Given the description of an element on the screen output the (x, y) to click on. 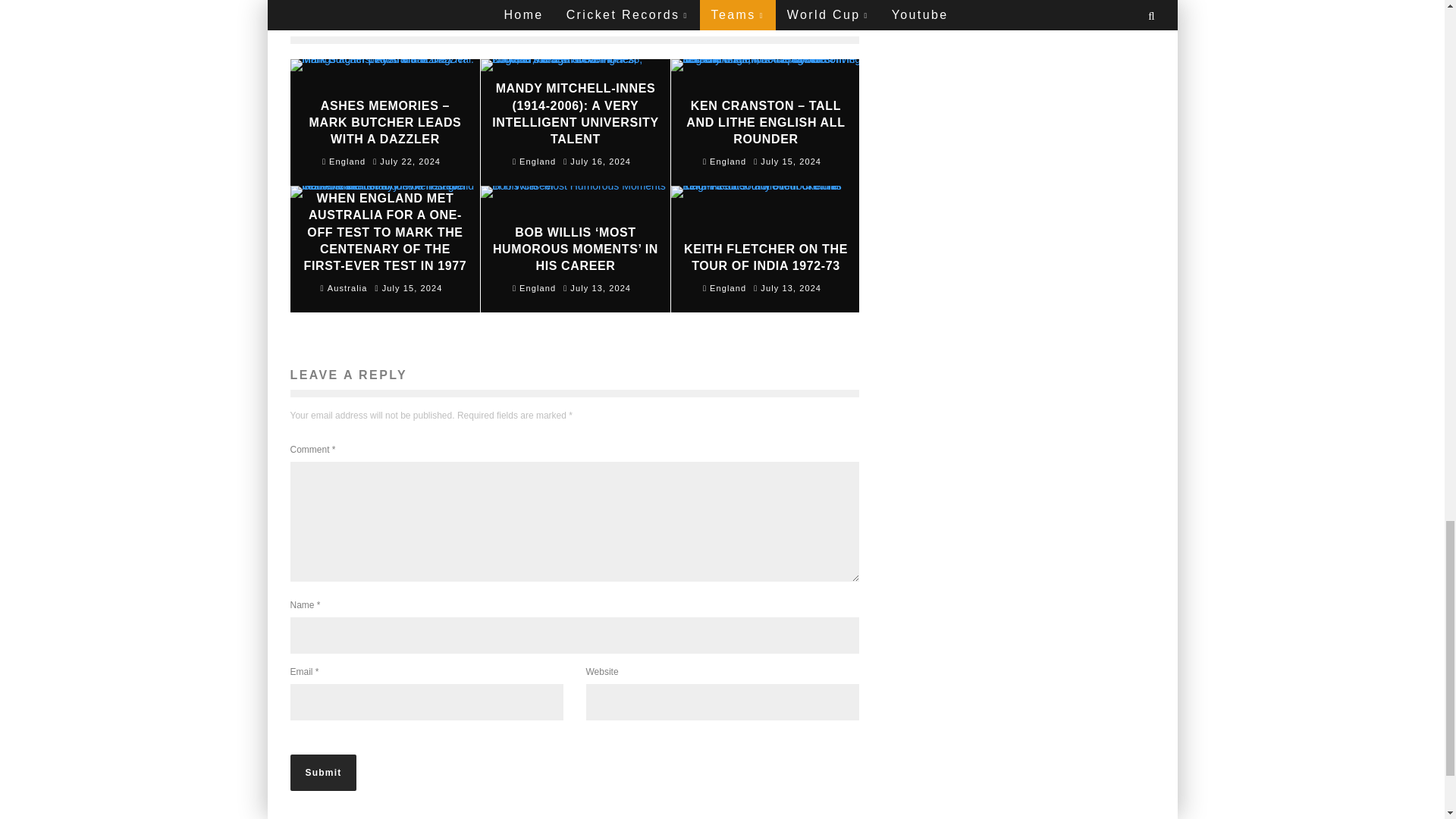
Submit (322, 772)
